Given the description of an element on the screen output the (x, y) to click on. 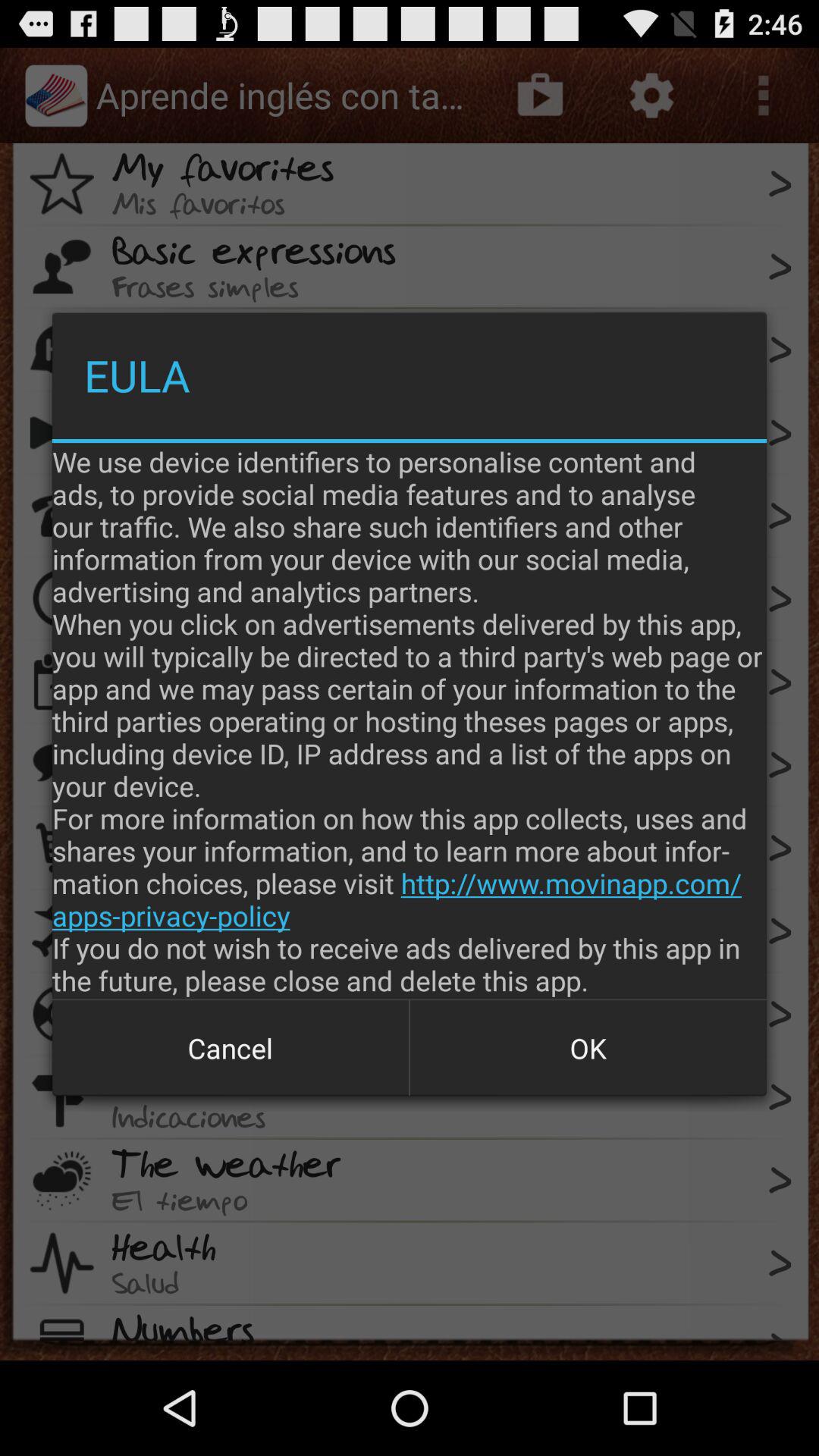
swipe until cancel (230, 1047)
